Given the description of an element on the screen output the (x, y) to click on. 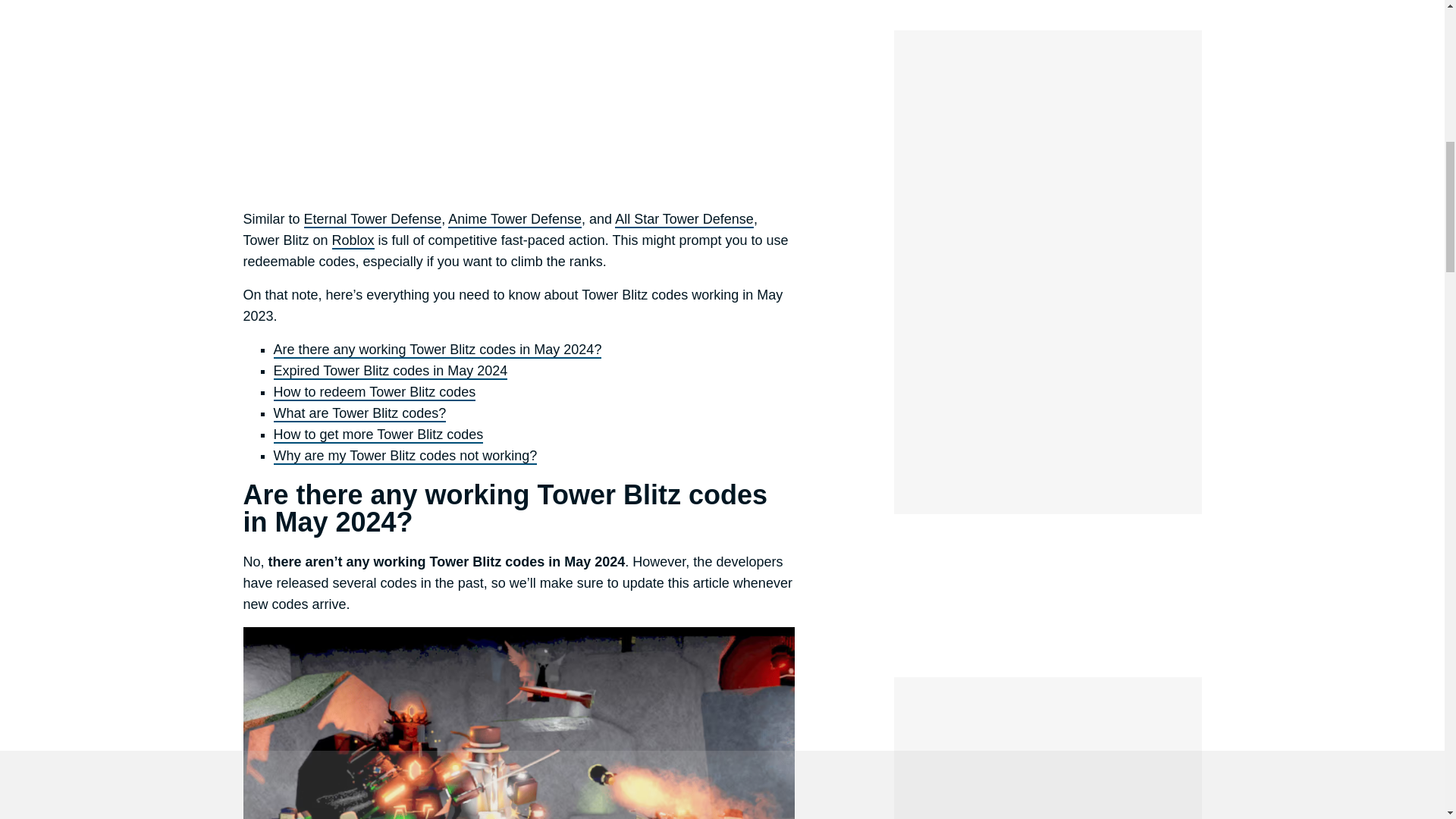
Roblox (352, 240)
All Star Tower Defense (684, 219)
Expired Tower Blitz codes in May 2024 (389, 371)
Eternal Tower Defense (373, 219)
How to redeem Tower Blitz codes (374, 392)
Anime Tower Defense (514, 219)
Are there any working Tower Blitz codes in May 2024? (437, 350)
